Given the description of an element on the screen output the (x, y) to click on. 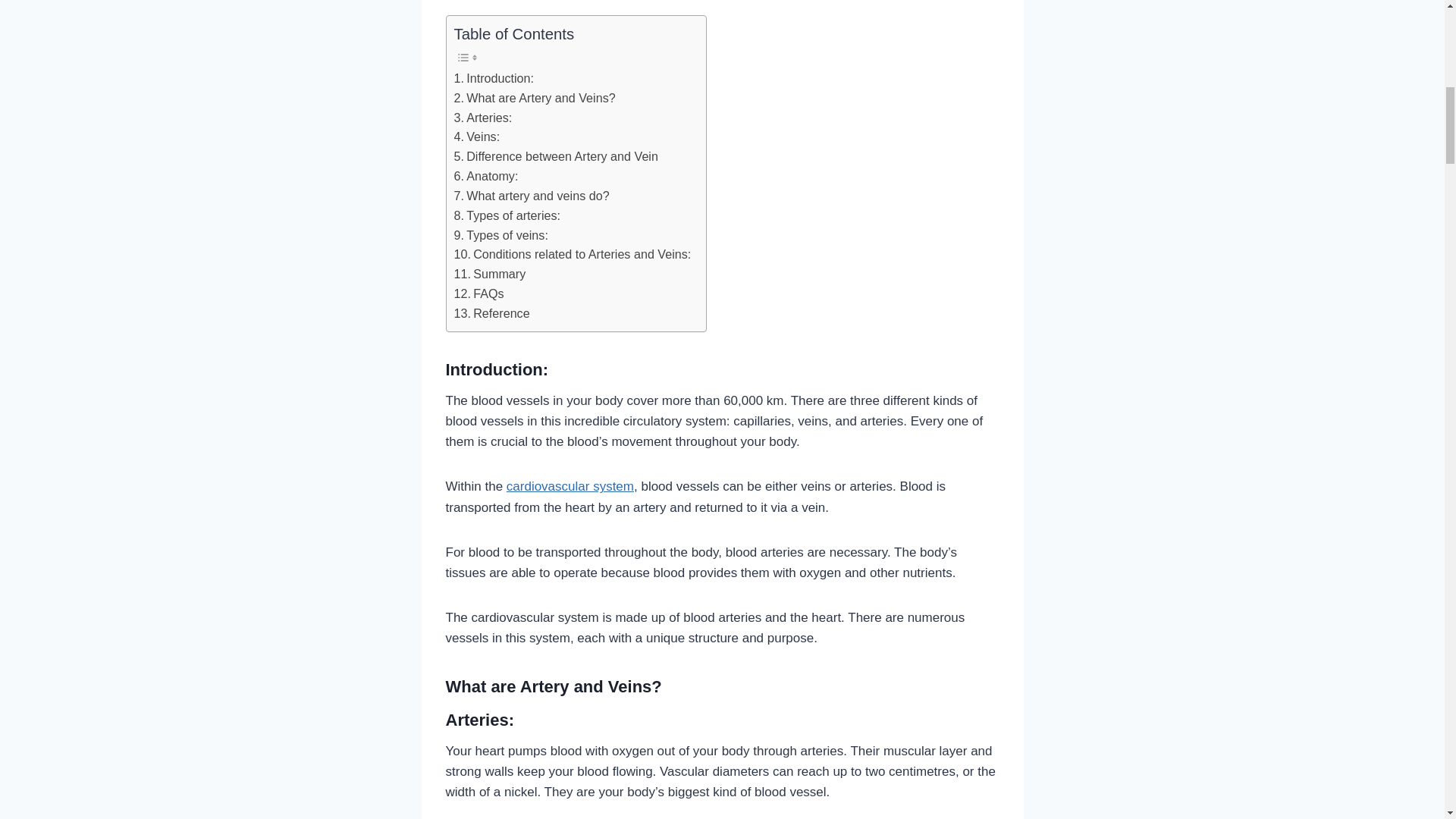
Conditions related to Arteries and Veins: (571, 254)
What artery and veins do? (530, 196)
Reference (490, 313)
Arteries: (482, 117)
Introduction: (493, 78)
Summary (488, 274)
Arteries: (482, 117)
Difference between Artery and Vein (555, 157)
What are Artery and Veins? (533, 98)
Veins: (475, 137)
